Given the description of an element on the screen output the (x, y) to click on. 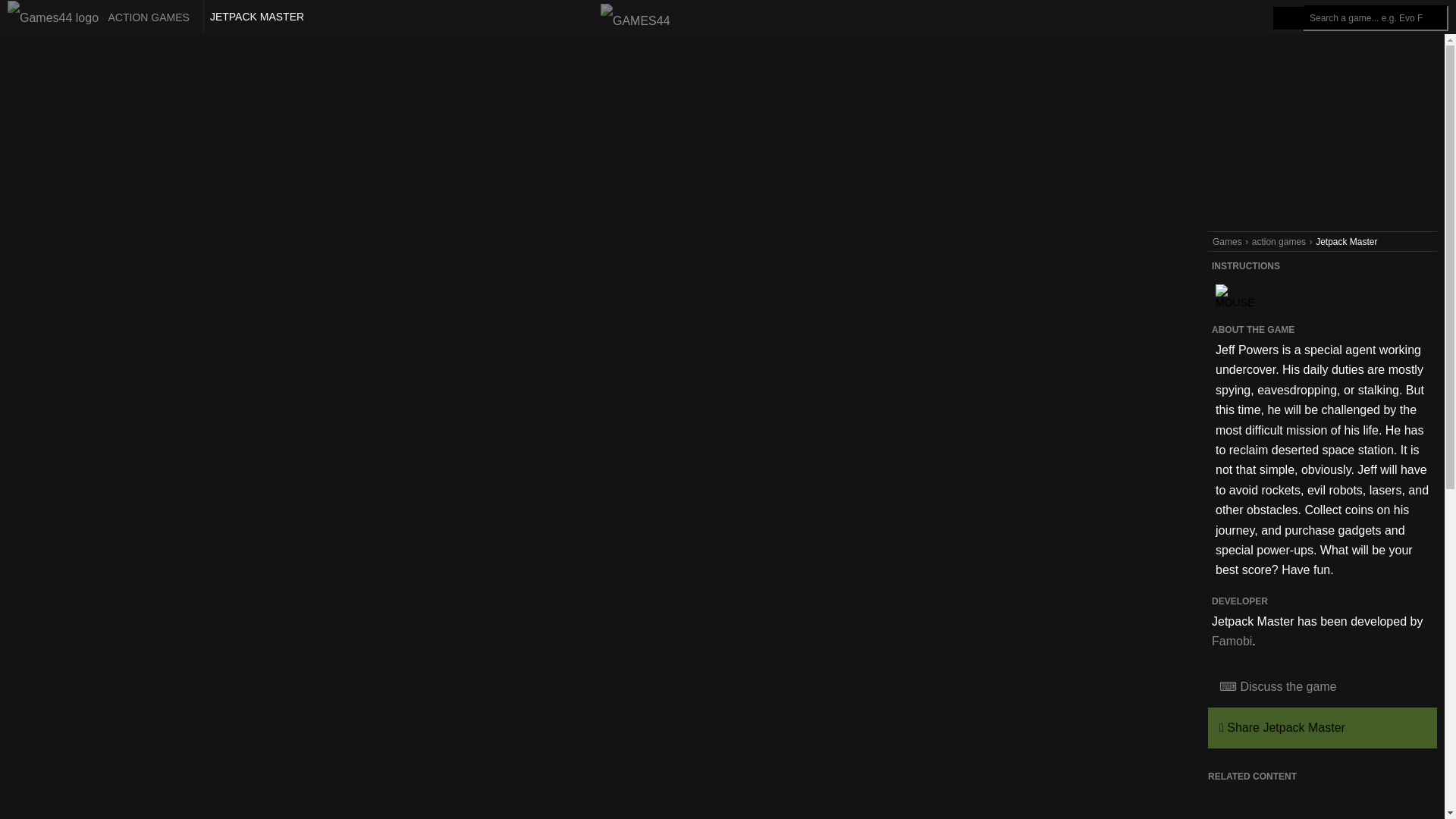
action Games (101, 17)
Discussion for game Jetpack Master (1322, 686)
Games (1226, 241)
action games (1279, 241)
Information (1232, 17)
Search (1287, 18)
Famobi (1231, 640)
ACTION GAMES (101, 17)
